Given the description of an element on the screen output the (x, y) to click on. 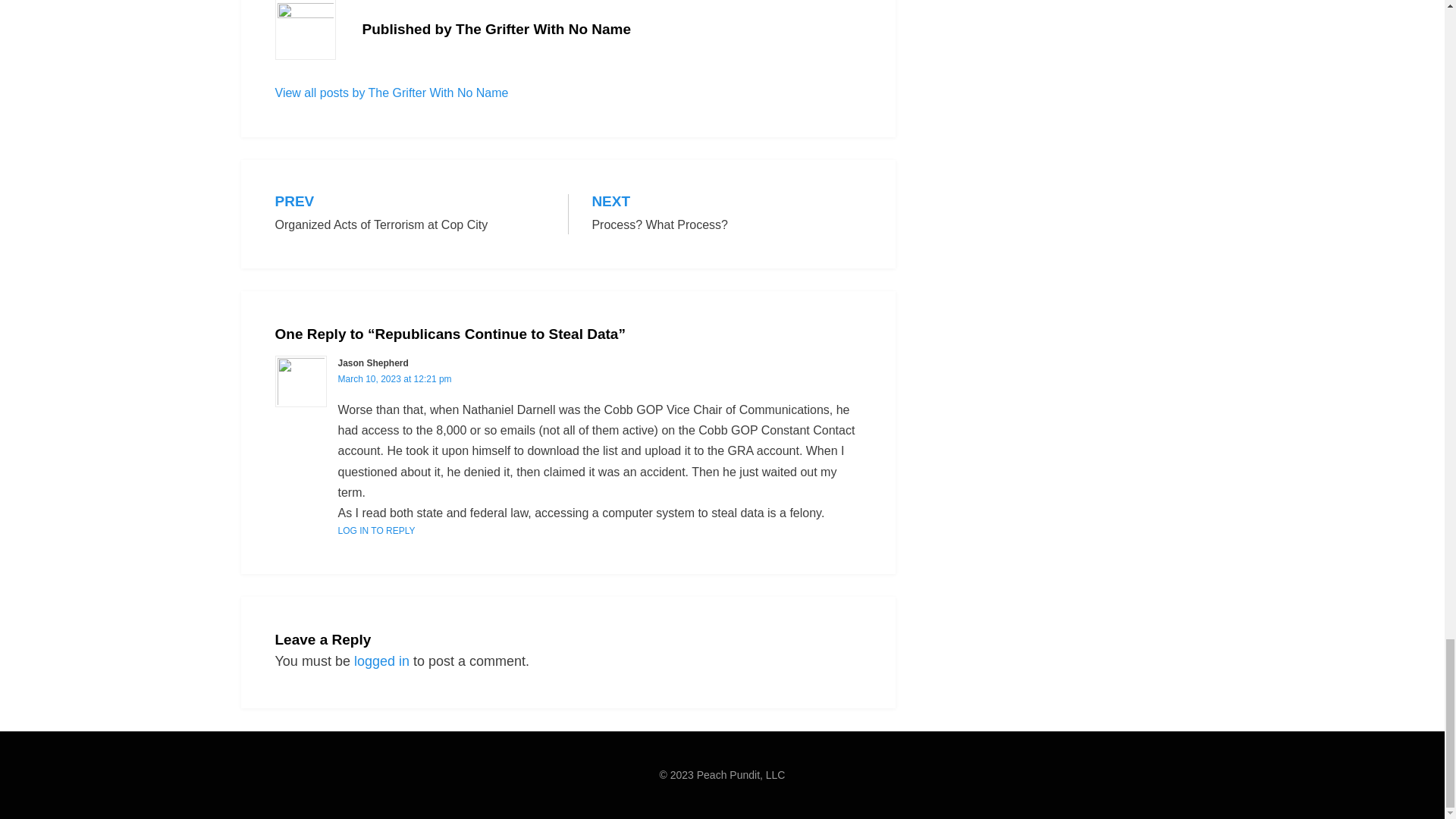
logged in (381, 661)
LOG IN TO REPLY (375, 530)
View all posts by The Grifter With No Name (409, 214)
TemplatePocket (391, 92)
WordPress (365, 796)
March 10, 2023 at 12:21 pm (726, 214)
